Given the description of an element on the screen output the (x, y) to click on. 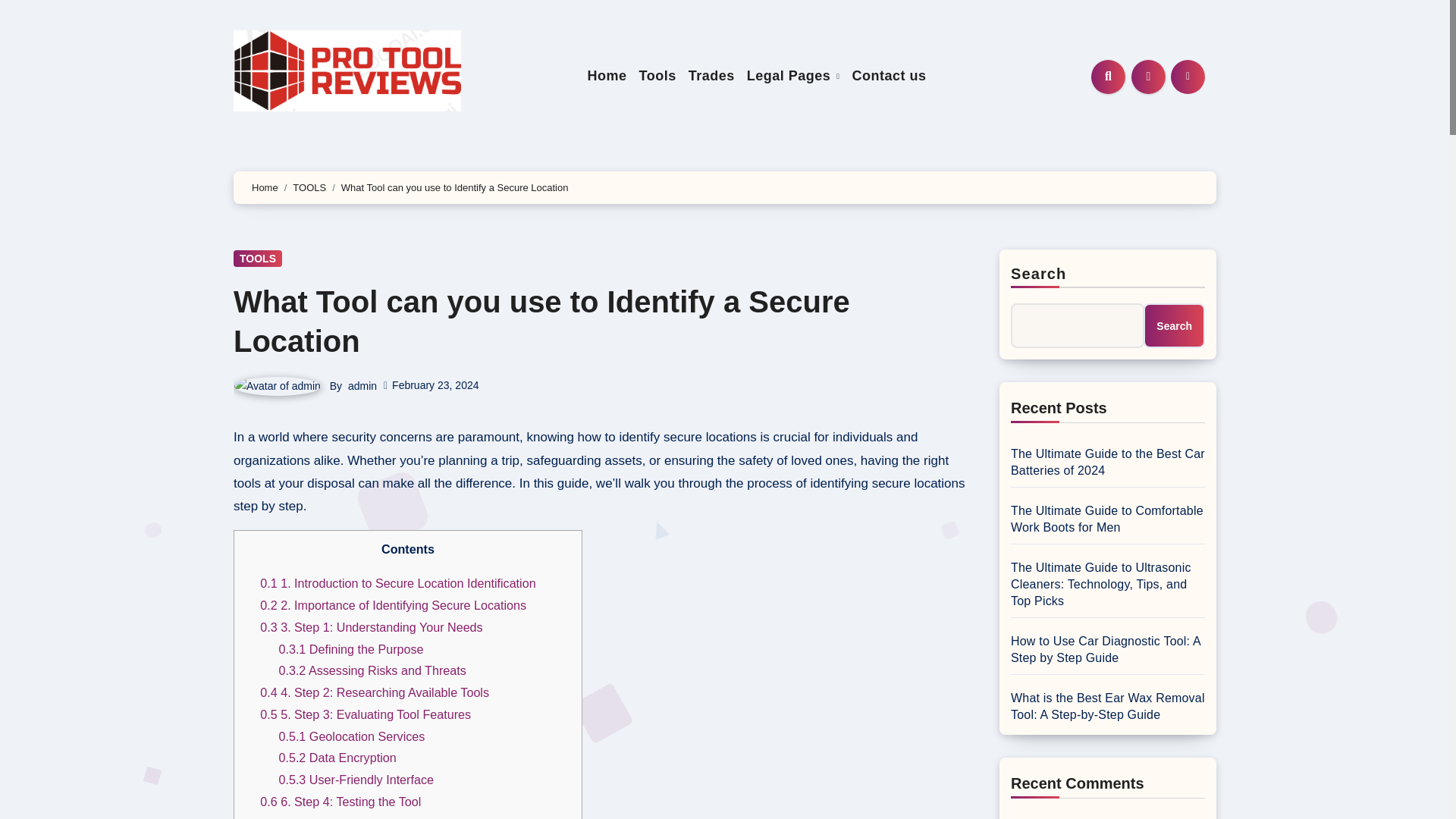
Home (605, 76)
Legal Pages (793, 76)
TOOLS (309, 187)
Home (605, 76)
0.3.2 Assessing Risks and Threats (371, 670)
0.4 4. Step 2: Researching Available Tools (374, 692)
0.5.2 Data Encryption (337, 757)
0.5 5. Step 3: Evaluating Tool Features (365, 714)
0.6 6. Step 4: Testing the Tool (340, 801)
